Given the description of an element on the screen output the (x, y) to click on. 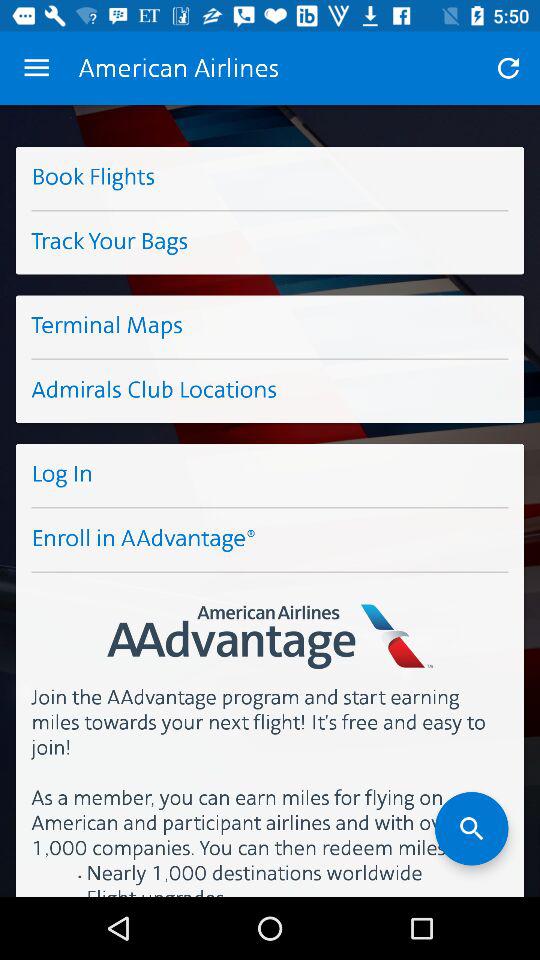
jump until admirals club locations item (269, 391)
